Given the description of an element on the screen output the (x, y) to click on. 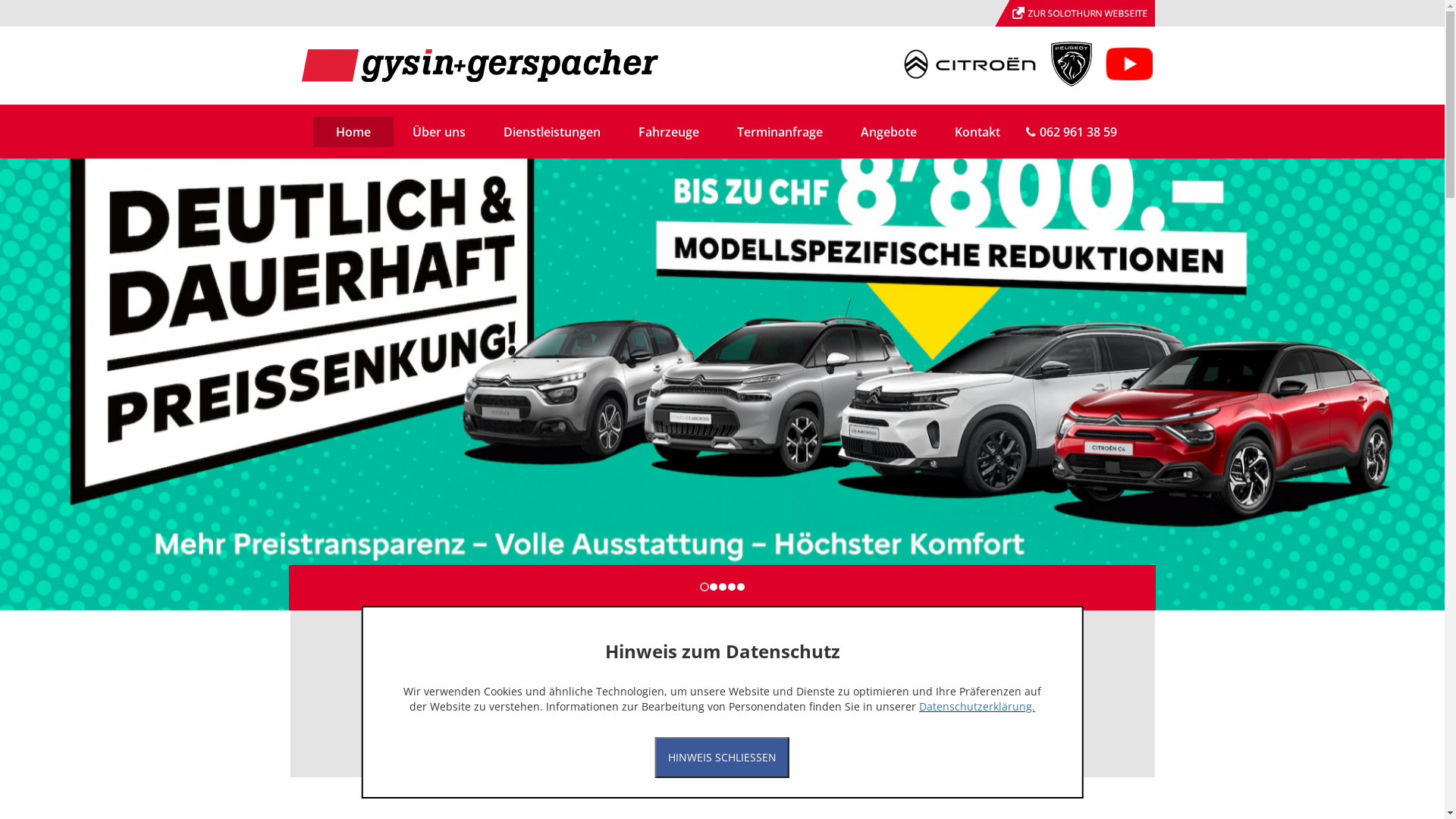
HINWEIS SCHLIESSEN Element type: text (722, 757)
Terminanfrage Element type: text (778, 131)
Home Element type: text (352, 131)
Angebote Element type: text (888, 131)
Dienstleistungen Element type: text (550, 131)
Kontakt Element type: text (977, 131)
Fahrzeuge Element type: text (667, 131)
